Given the description of an element on the screen output the (x, y) to click on. 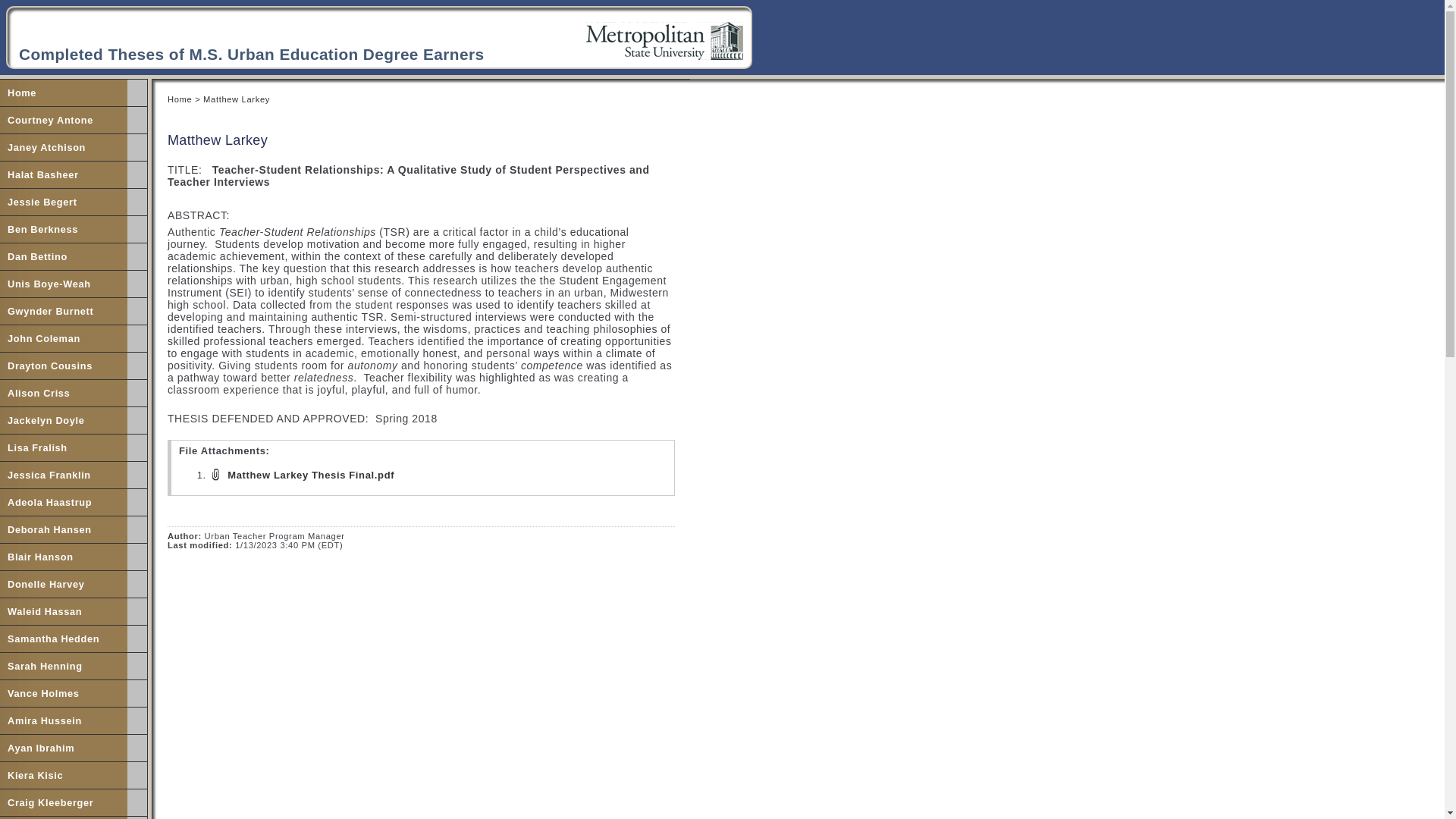
Jackelyn Doyle (64, 420)
Kiera Kisic (64, 775)
Jessica Franklin (64, 474)
Samantha Hedden (64, 638)
Abby Kloos (64, 817)
Jessie Begert (64, 202)
Blair Hanson (64, 556)
Courtney Antone (64, 120)
Halat Basheer (64, 174)
Waleid Hassan (64, 611)
Dan Bettino (64, 256)
Sarah Henning (64, 665)
Adeola Haastrup (64, 501)
John Coleman (64, 338)
Ben Berkness (64, 229)
